Given the description of an element on the screen output the (x, y) to click on. 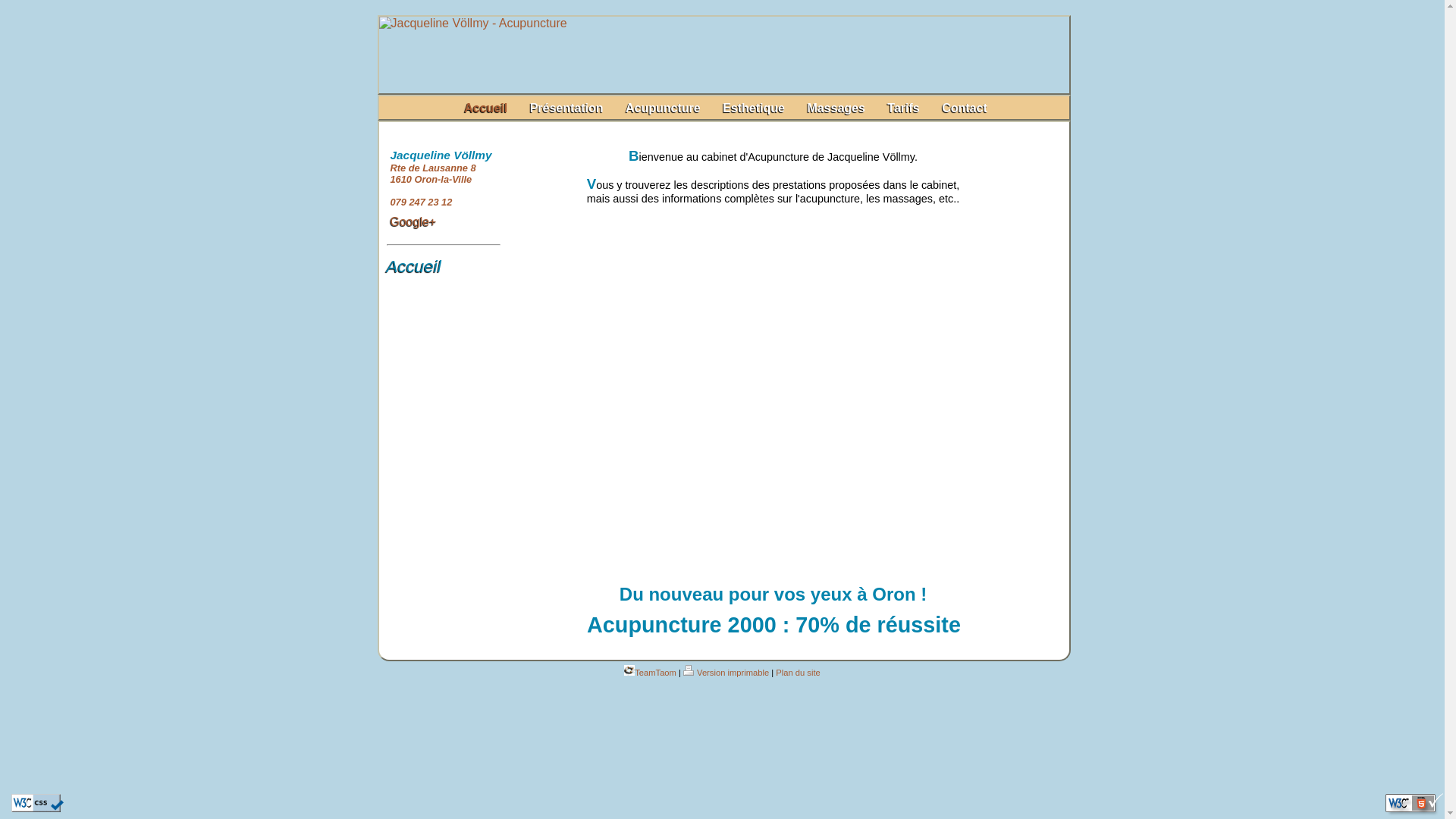
TeamTaom Element type: text (650, 672)
Massages Element type: text (835, 107)
Google+ Element type: text (412, 221)
Esthetique Element type: text (753, 107)
Plan du site Element type: text (797, 672)
Version imprimable Element type: text (725, 672)
Acupuncture Element type: text (662, 107)
Tarifs Element type: text (903, 107)
Contact Element type: text (964, 107)
